Given the description of an element on the screen output the (x, y) to click on. 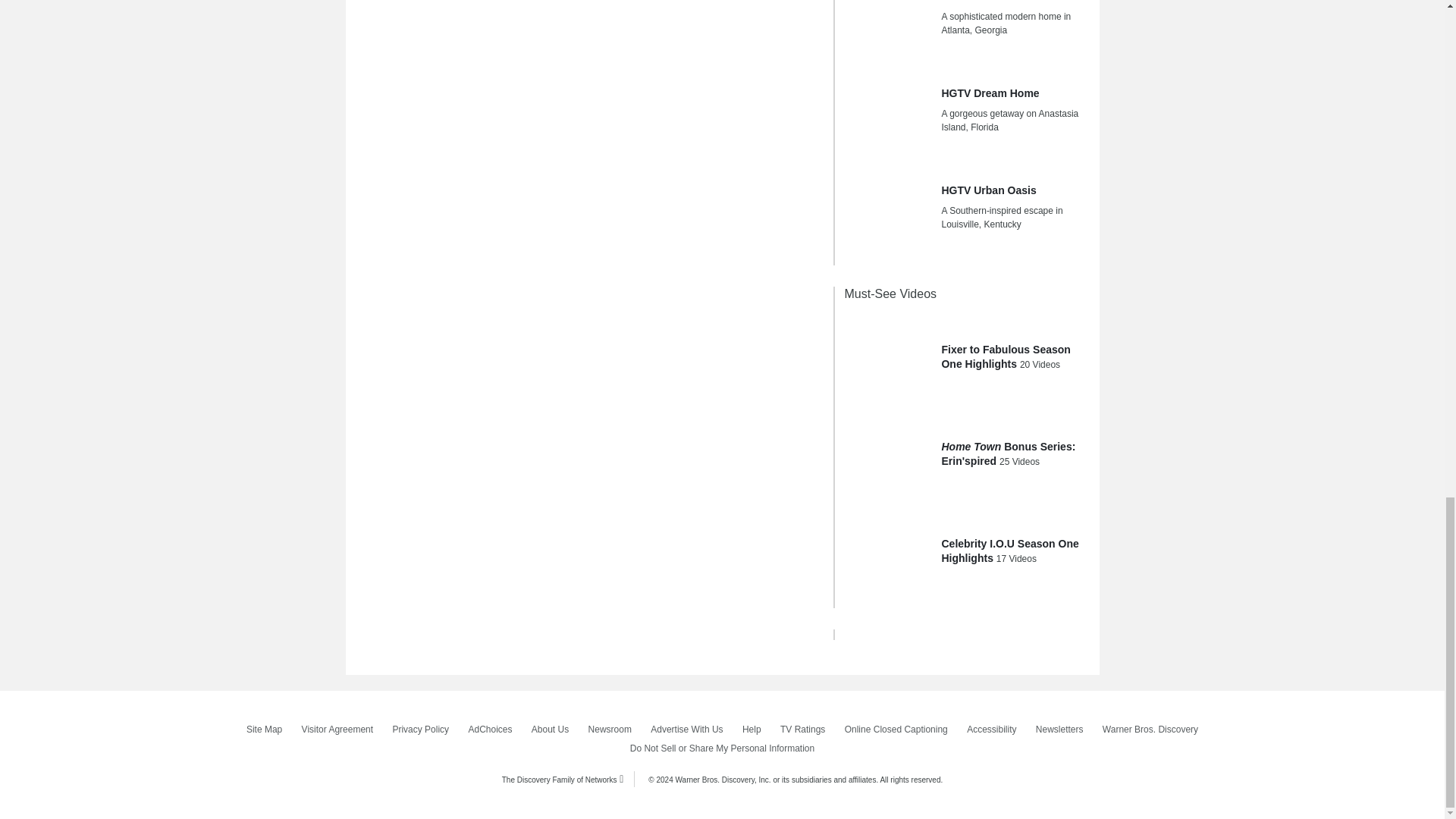
HGTV Urban Oasis (887, 211)
HGTV Dream Home (887, 114)
Fixer to Fabulous Season One Highlights (887, 359)
Celebrity I.O.U Season One Highlights (887, 554)
HGTV Smart Home (887, 30)
